Given the description of an element on the screen output the (x, y) to click on. 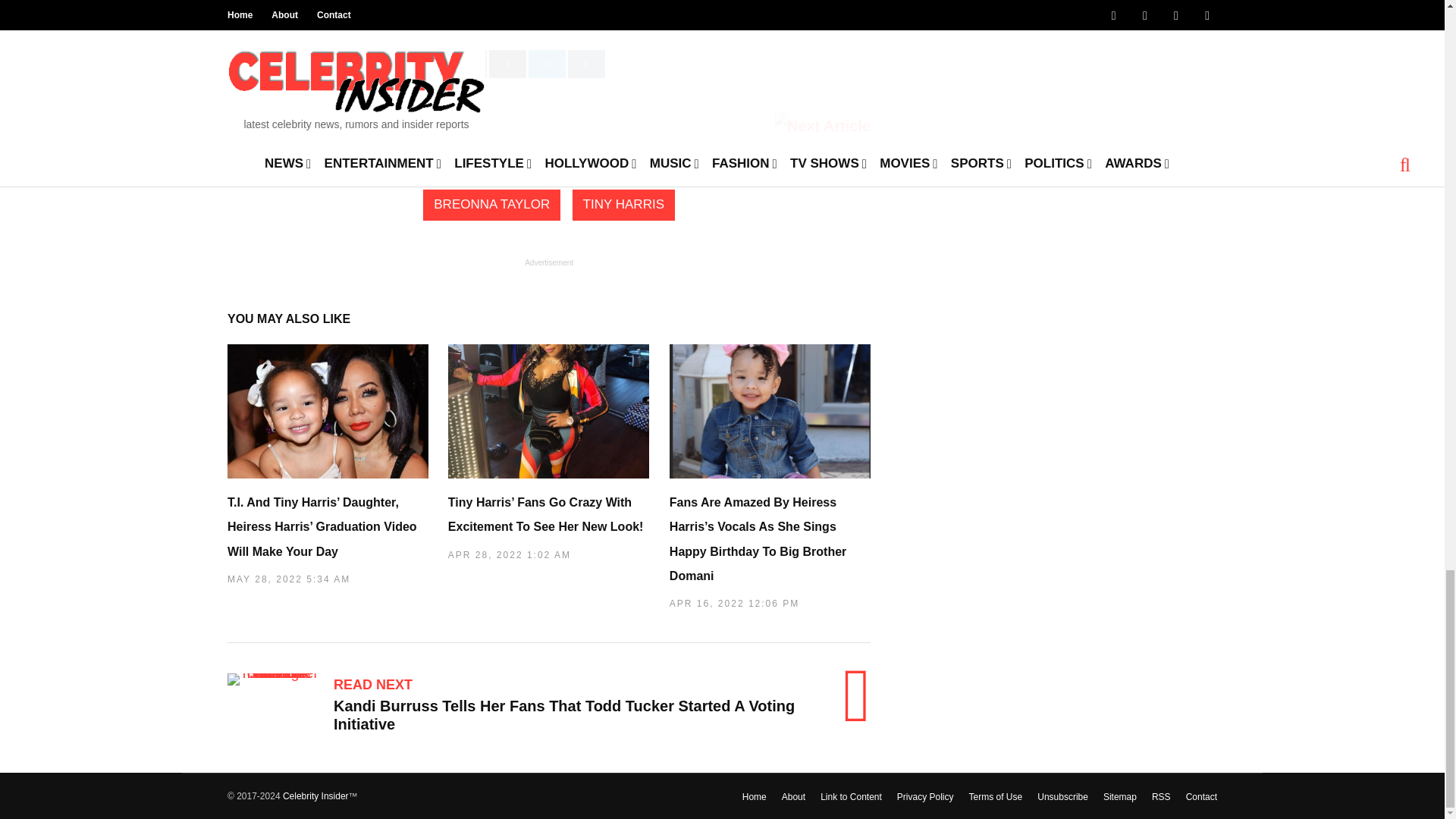
Share On Twitter (406, 63)
Share On Reddit (507, 63)
Share On Tumblr (586, 63)
Share On Linkedin (547, 63)
Share On Pinterest (467, 63)
Share On Facebook (296, 63)
